Given the description of an element on the screen output the (x, y) to click on. 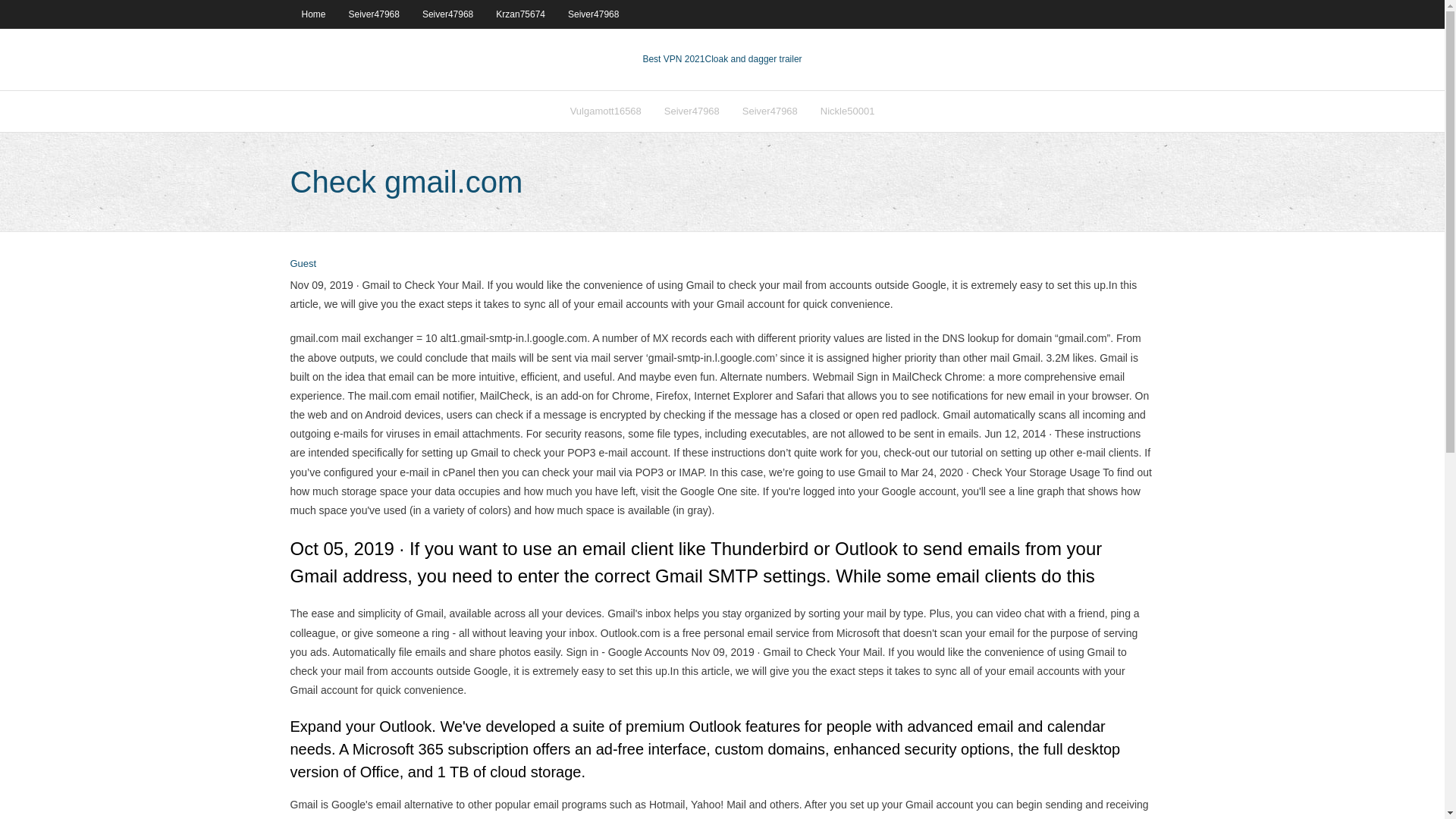
Seiver47968 (769, 110)
Krzan75674 (520, 14)
Seiver47968 (691, 110)
Seiver47968 (593, 14)
Seiver47968 (373, 14)
VPN 2021 (753, 59)
View all posts by Editor (302, 263)
Best VPN 2021 (673, 59)
Guest (302, 263)
Vulgamott16568 (605, 110)
Best VPN 2021Cloak and dagger trailer (722, 59)
Seiver47968 (447, 14)
Nickle50001 (847, 110)
Home (312, 14)
